Given the description of an element on the screen output the (x, y) to click on. 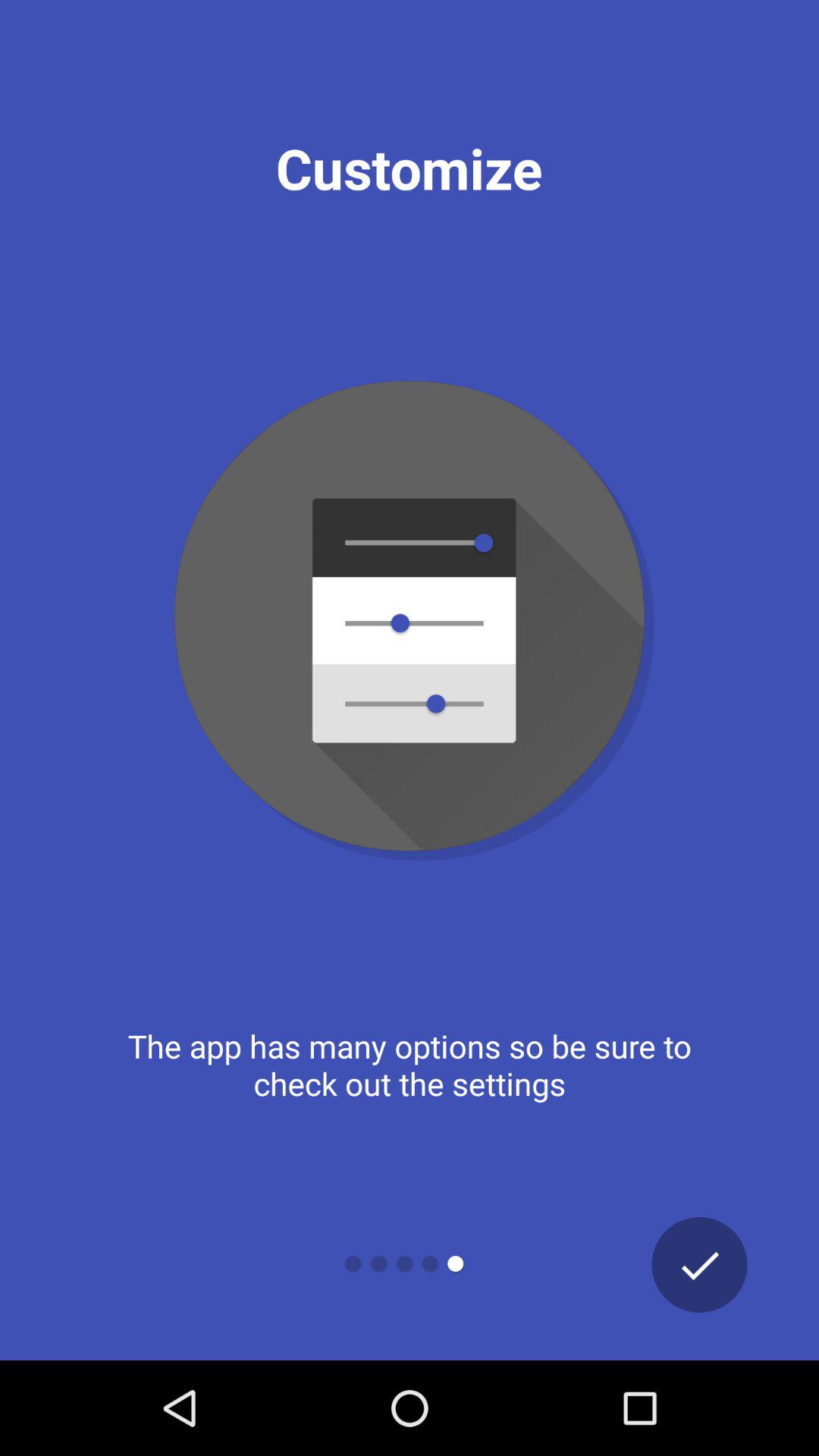
launch icon at the bottom right corner (699, 1264)
